Given the description of an element on the screen output the (x, y) to click on. 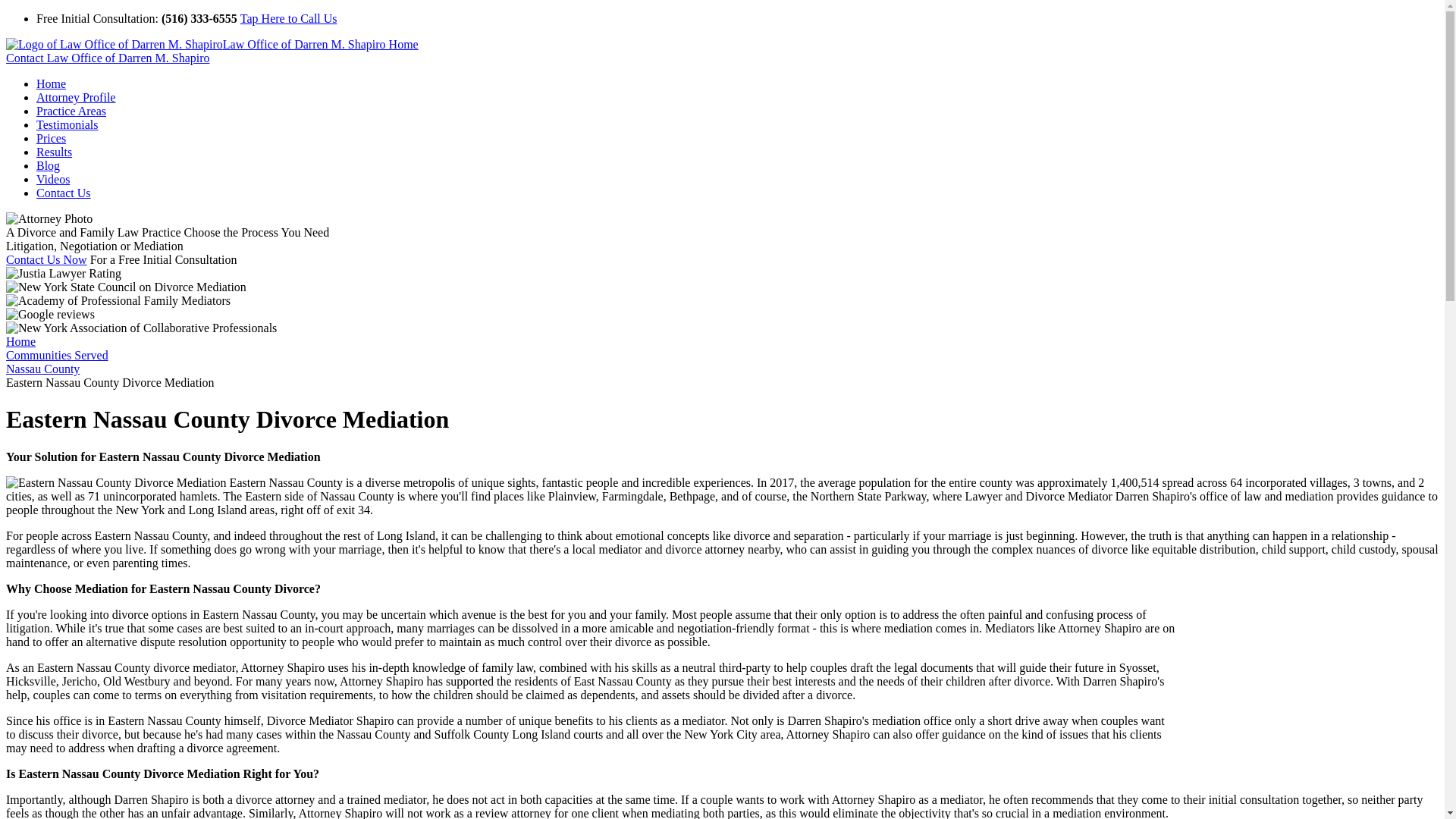
Contact Us (63, 192)
Back to Home (212, 43)
Contact Law Office of Darren M. Shapiro (107, 57)
Home (19, 341)
Prices (50, 137)
Blog (47, 164)
Attorney Profile (75, 97)
Nassau County (42, 368)
Home (50, 83)
Law Office of Darren M. Shapiro Home (212, 43)
Communities Served (56, 354)
Testimonials (67, 124)
Contact Us Now (46, 259)
Tap Here to Call Us (288, 18)
Practice Areas (71, 110)
